Given the description of an element on the screen output the (x, y) to click on. 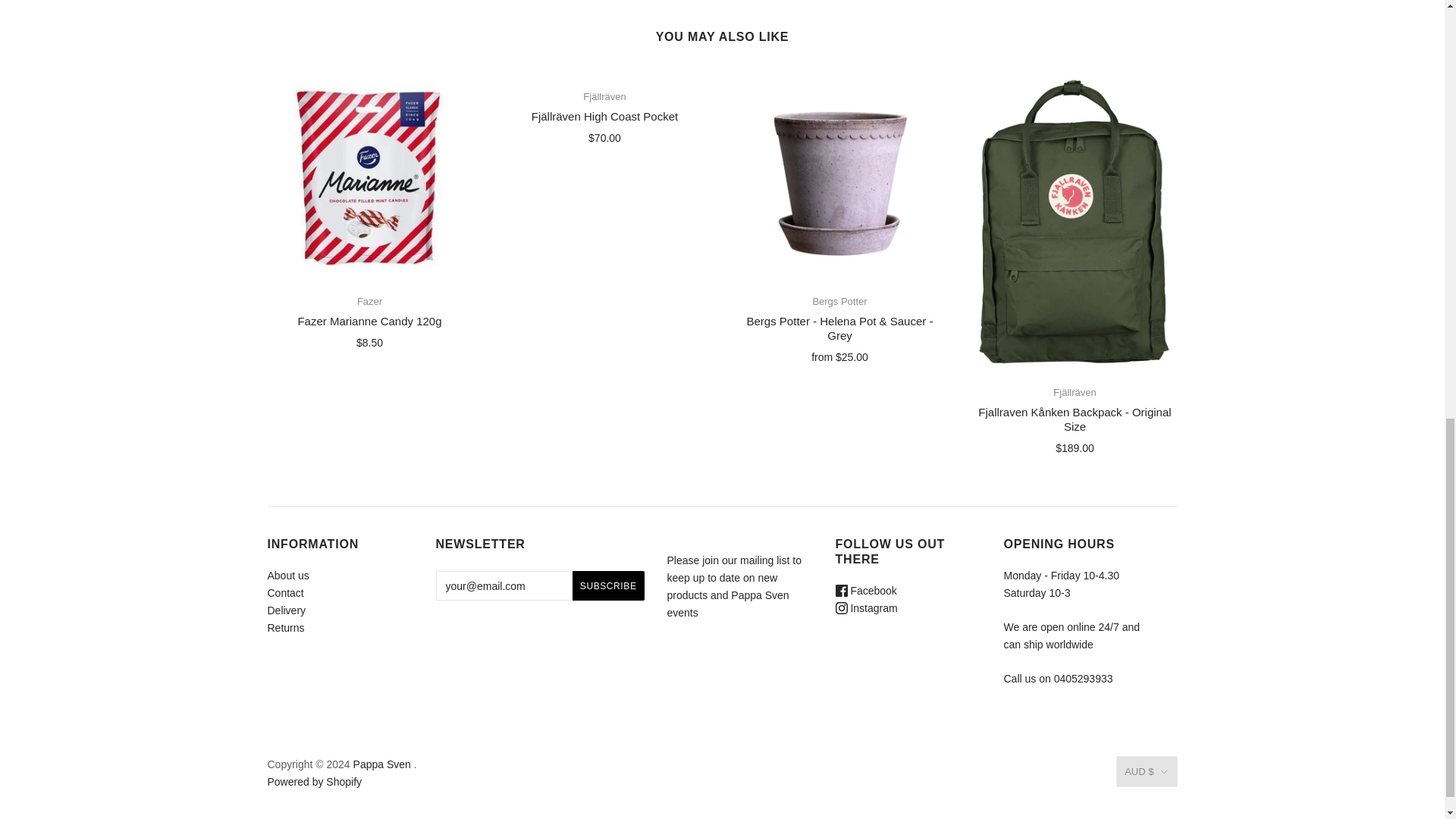
Facebook (865, 590)
Instagram (866, 607)
Fazer (368, 301)
Bergs Potter (839, 301)
Subscribe (608, 585)
